Given the description of an element on the screen output the (x, y) to click on. 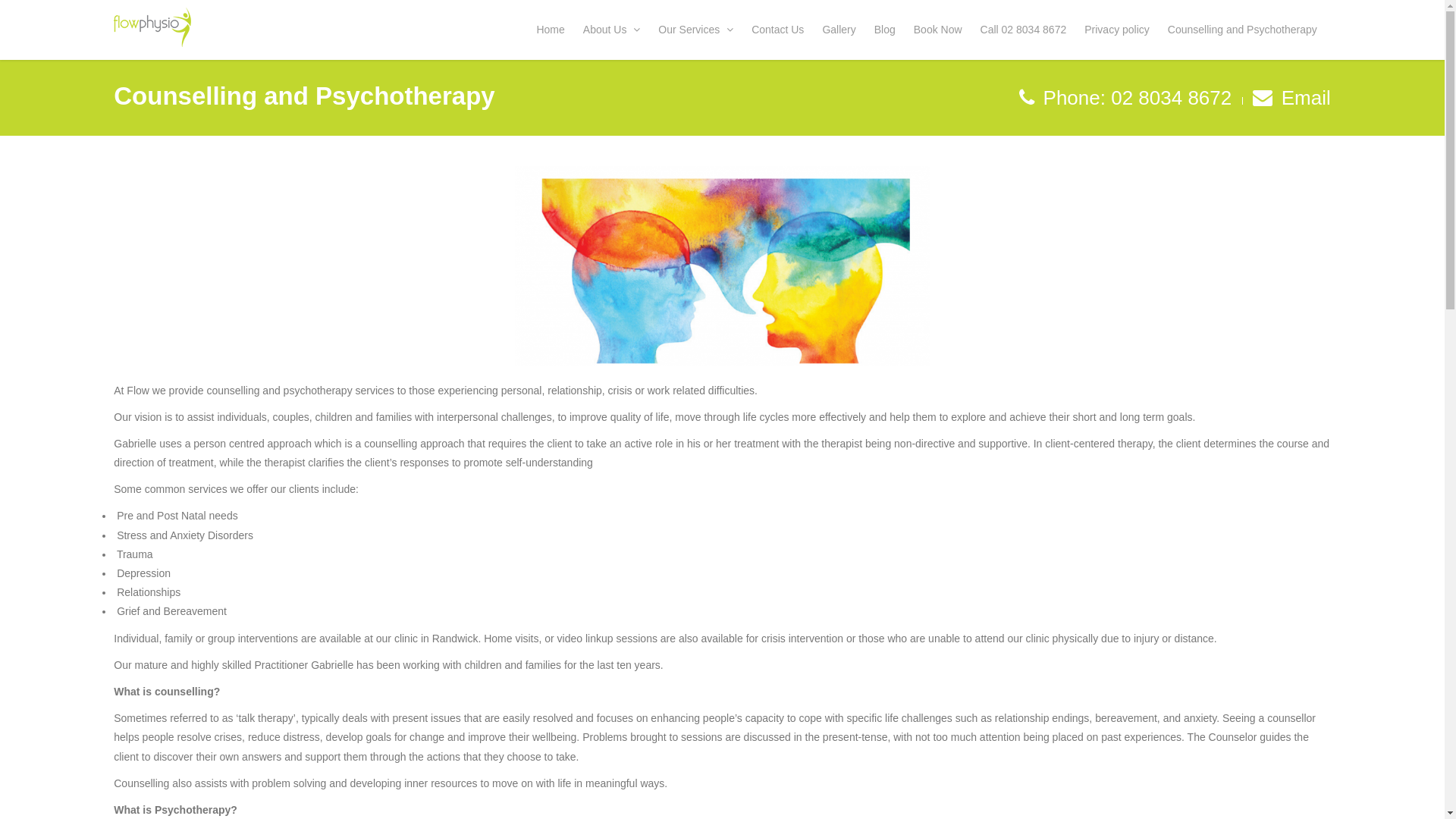
Counselling and Psychotherapy Element type: text (1246, 33)
Privacy policy Element type: text (1120, 33)
Blog Element type: text (888, 33)
Book Now Element type: text (941, 33)
About Us Element type: text (614, 33)
Call 02 8034 8672 Element type: text (1027, 33)
Email Element type: text (1305, 97)
Home Element type: text (553, 33)
Phone: 02 8034 8672 Element type: text (1134, 97)
Our Services Element type: text (699, 33)
Contact Us Element type: text (781, 33)
Gallery Element type: text (842, 33)
